Given the description of an element on the screen output the (x, y) to click on. 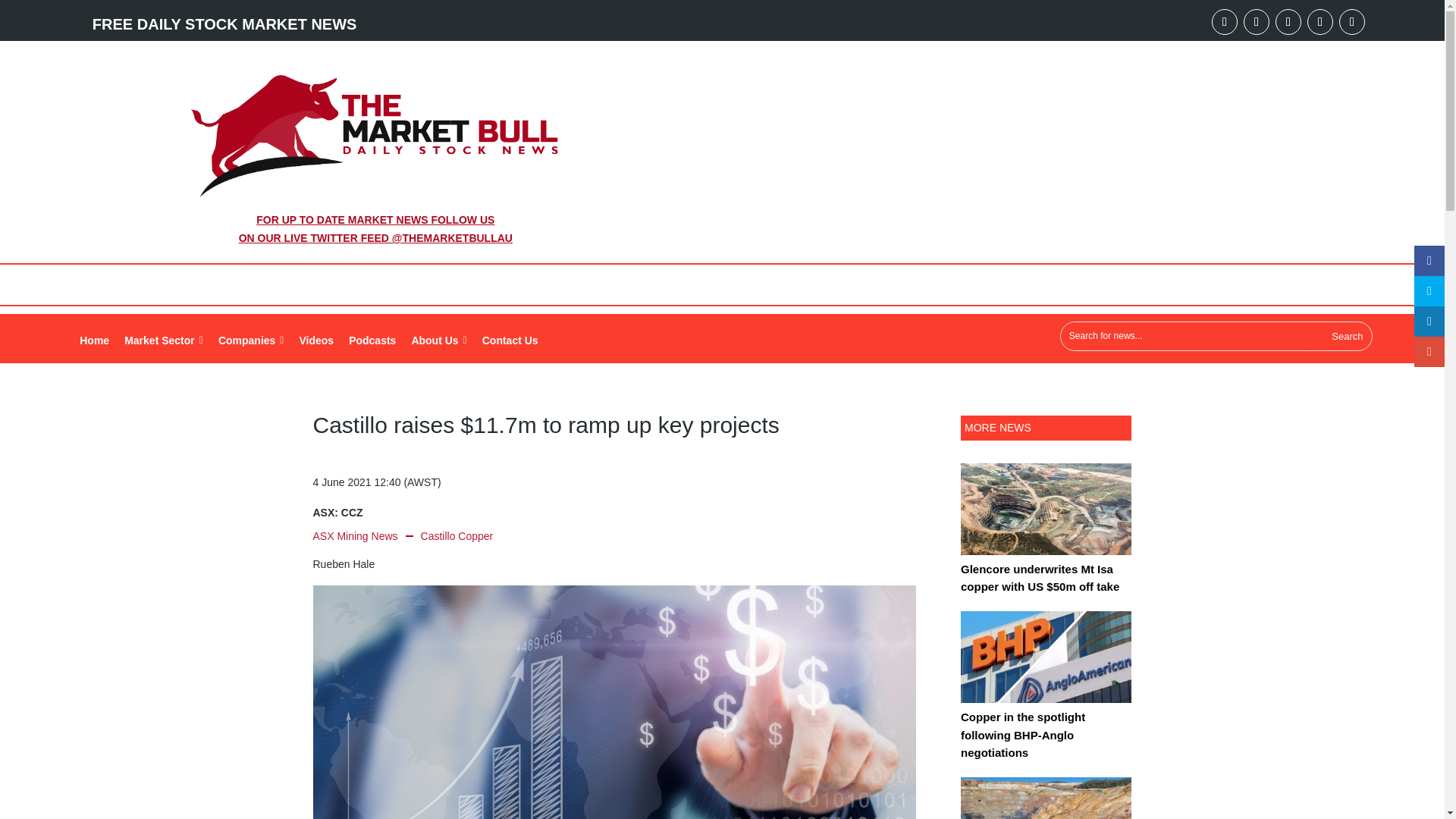
Follow on LinkedIn (1256, 22)
Search (1347, 336)
Follow on X (1288, 22)
Follow on Instagram (1320, 22)
Search (1347, 336)
Copper in the spotlight following BHP-Anglo negotiations (1045, 666)
Follow on TikTok (1352, 22)
Follow on Youtube (1224, 22)
